Given the description of an element on the screen output the (x, y) to click on. 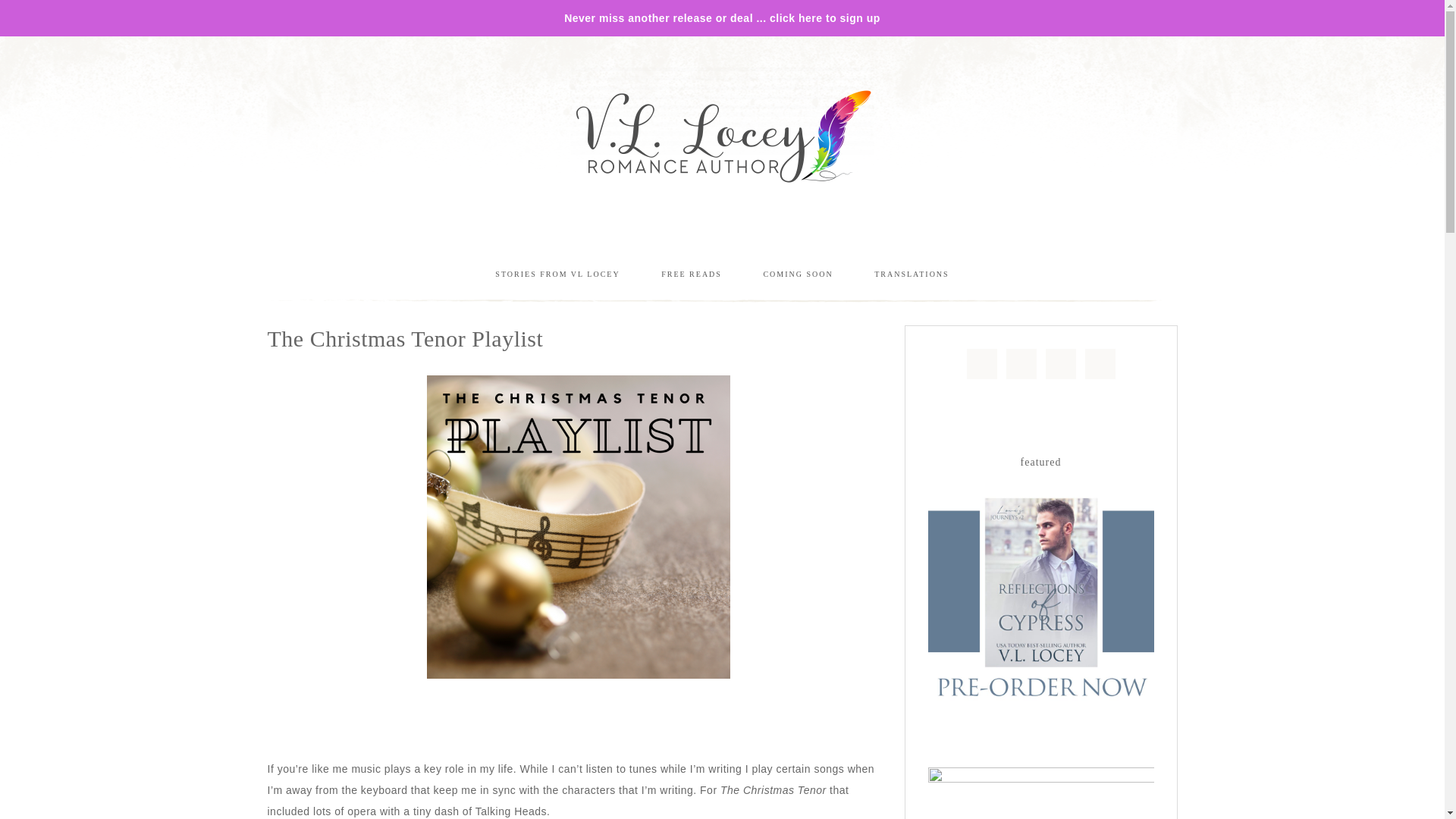
FREE READS (691, 273)
TRANSLATIONS (911, 273)
COMING SOON (797, 273)
Never miss another release or deal ... click here to sign up (722, 18)
STORIES FROM VL LOCEY (557, 273)
